Given the description of an element on the screen output the (x, y) to click on. 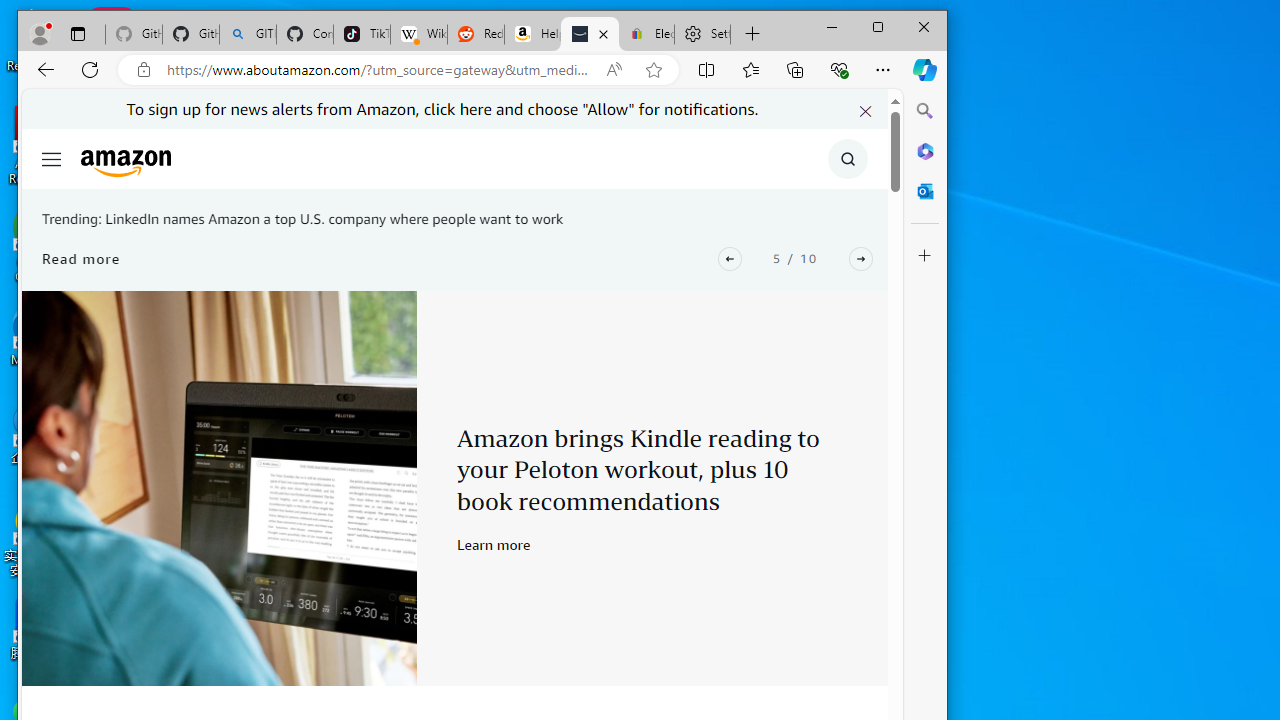
Learn more (493, 544)
Next (860, 258)
Class: icon-search (847, 159)
Previous (730, 258)
Peloton x Kindle (219, 488)
